Given the description of an element on the screen output the (x, y) to click on. 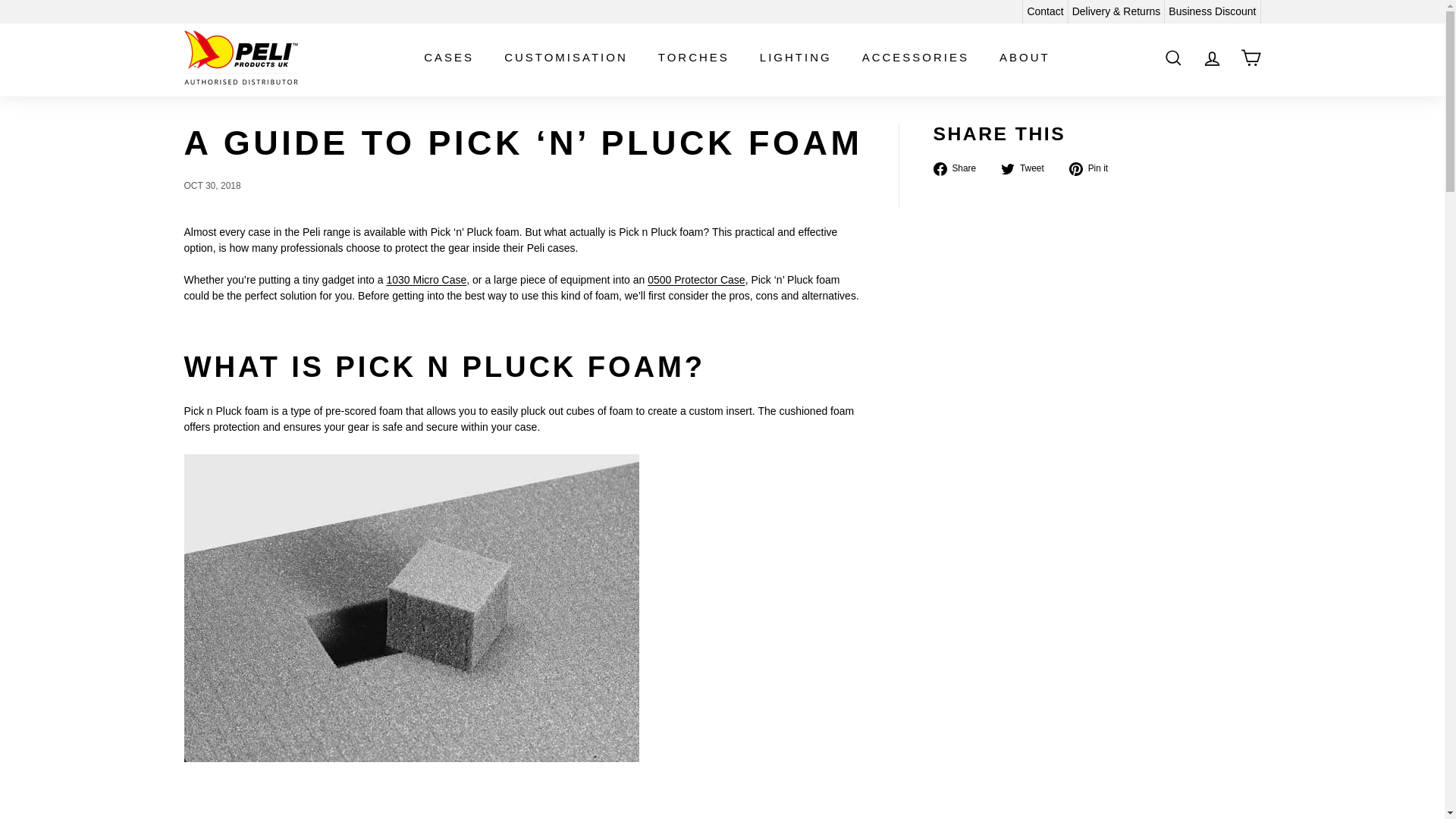
Pin on Pinterest (1093, 168)
Contact (1044, 11)
Business Discount (1212, 11)
Tweet on Twitter (1028, 168)
CUSTOMISATION (566, 57)
Contact (1044, 11)
Business Discount (1212, 11)
CASES (449, 57)
Share on Facebook (960, 168)
